Given the description of an element on the screen output the (x, y) to click on. 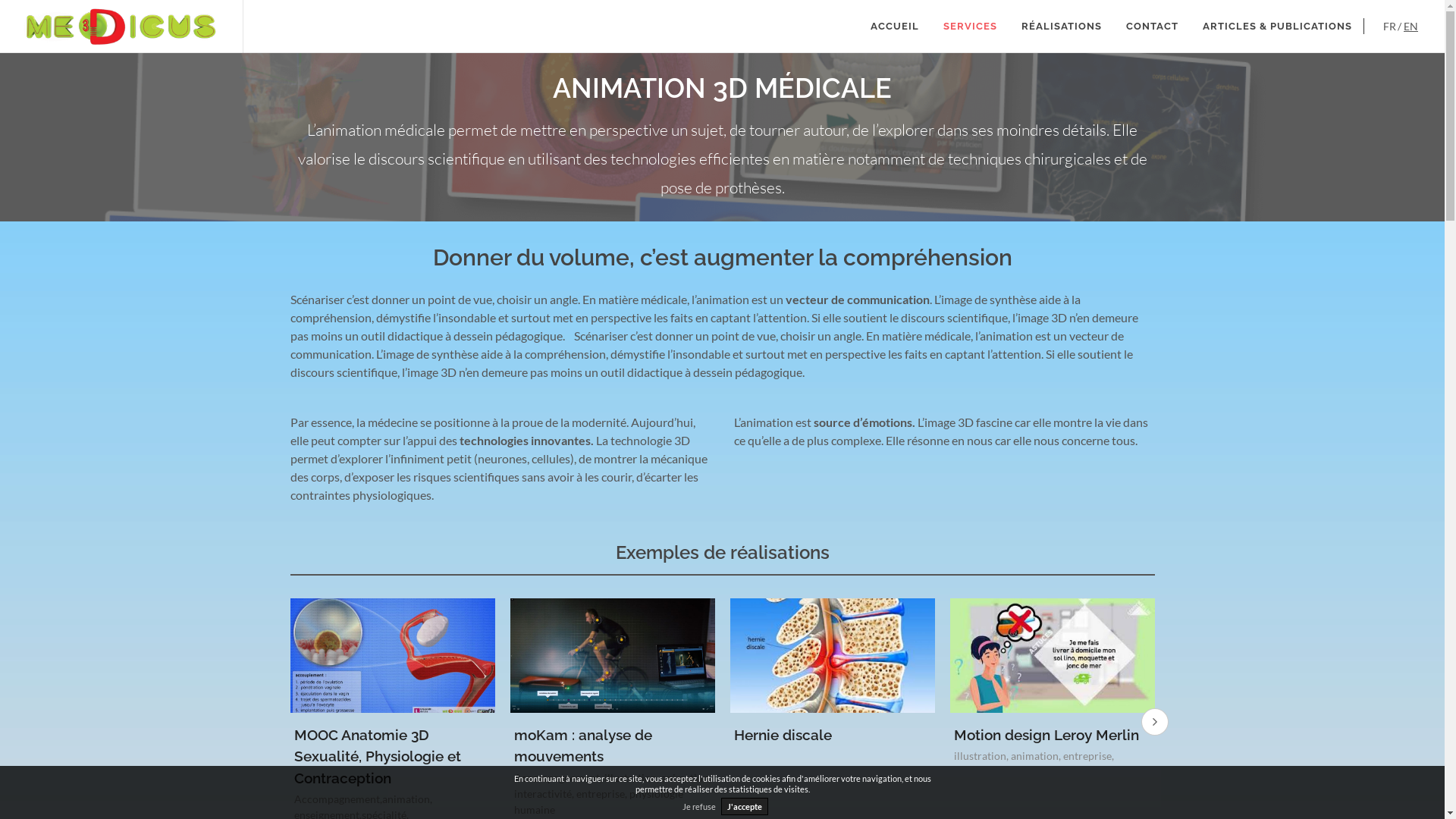
CONTACT Element type: text (1151, 26)
entreprise Element type: text (1087, 755)
entreprise Element type: text (600, 793)
Hernie discale Element type: text (782, 734)
EN Element type: text (1410, 26)
animation Element type: text (685, 777)
animation Element type: text (1033, 755)
physiologie humaine Element type: text (598, 801)
Accompagnement Element type: text (336, 798)
Accompagnement Element type: text (556, 777)
animation Element type: text (405, 798)
Motion design Leroy Merlin Element type: text (1046, 734)
ACCUEIL Element type: text (894, 26)
Je refuse Element type: text (698, 806)
SERVICES Element type: text (969, 26)
illustration Element type: text (629, 777)
illustration Element type: text (979, 755)
J'accepte Element type: text (743, 806)
moKam : analyse de mouvements Element type: text (583, 745)
ARTICLES & PUBLICATIONS Element type: text (1277, 26)
